Given the description of an element on the screen output the (x, y) to click on. 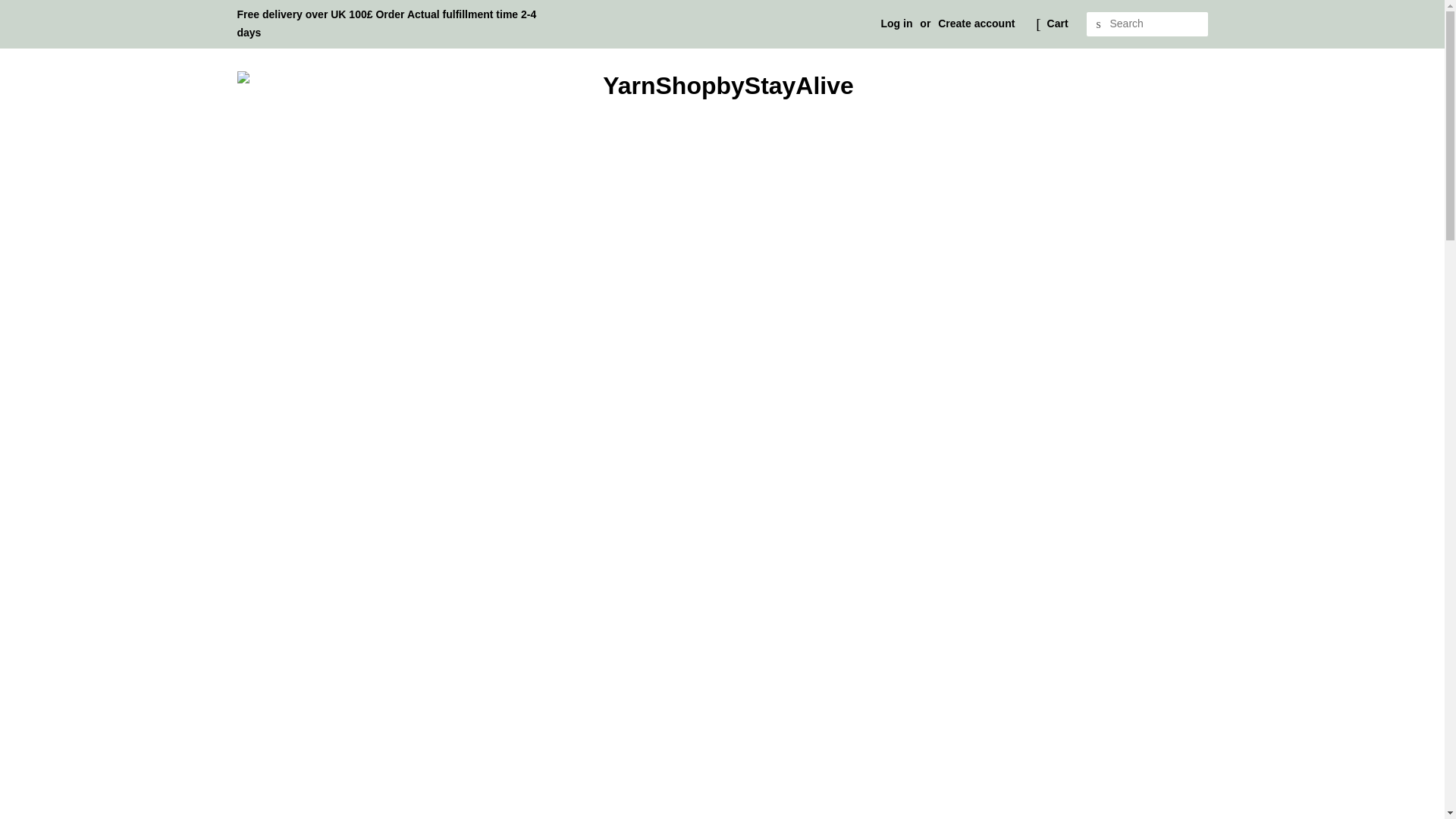
Cart (1057, 24)
Create account (975, 23)
Search (1097, 24)
Log in (896, 23)
